Given the description of an element on the screen output the (x, y) to click on. 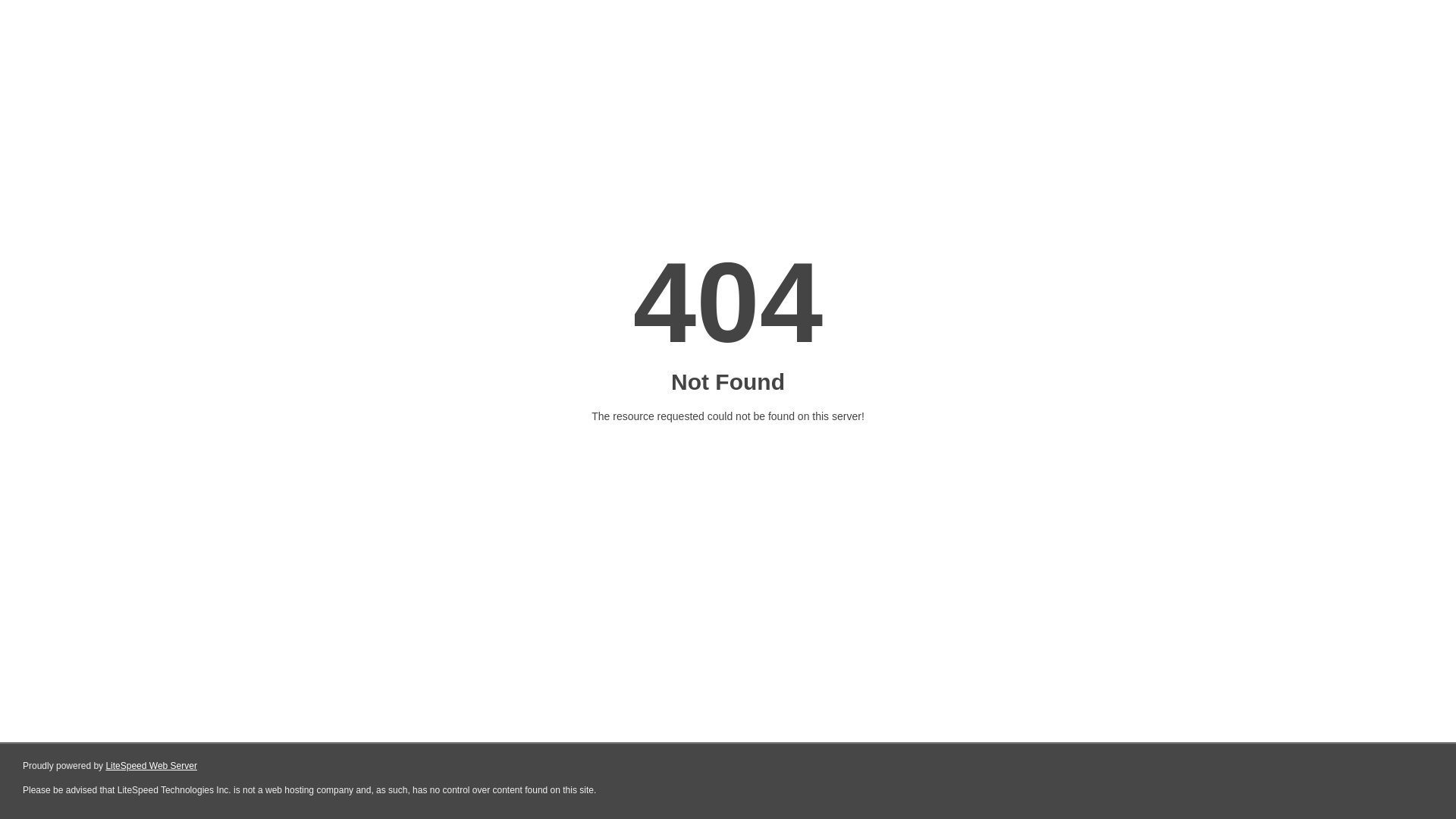
LiteSpeed Web Server Element type: text (151, 765)
